Given the description of an element on the screen output the (x, y) to click on. 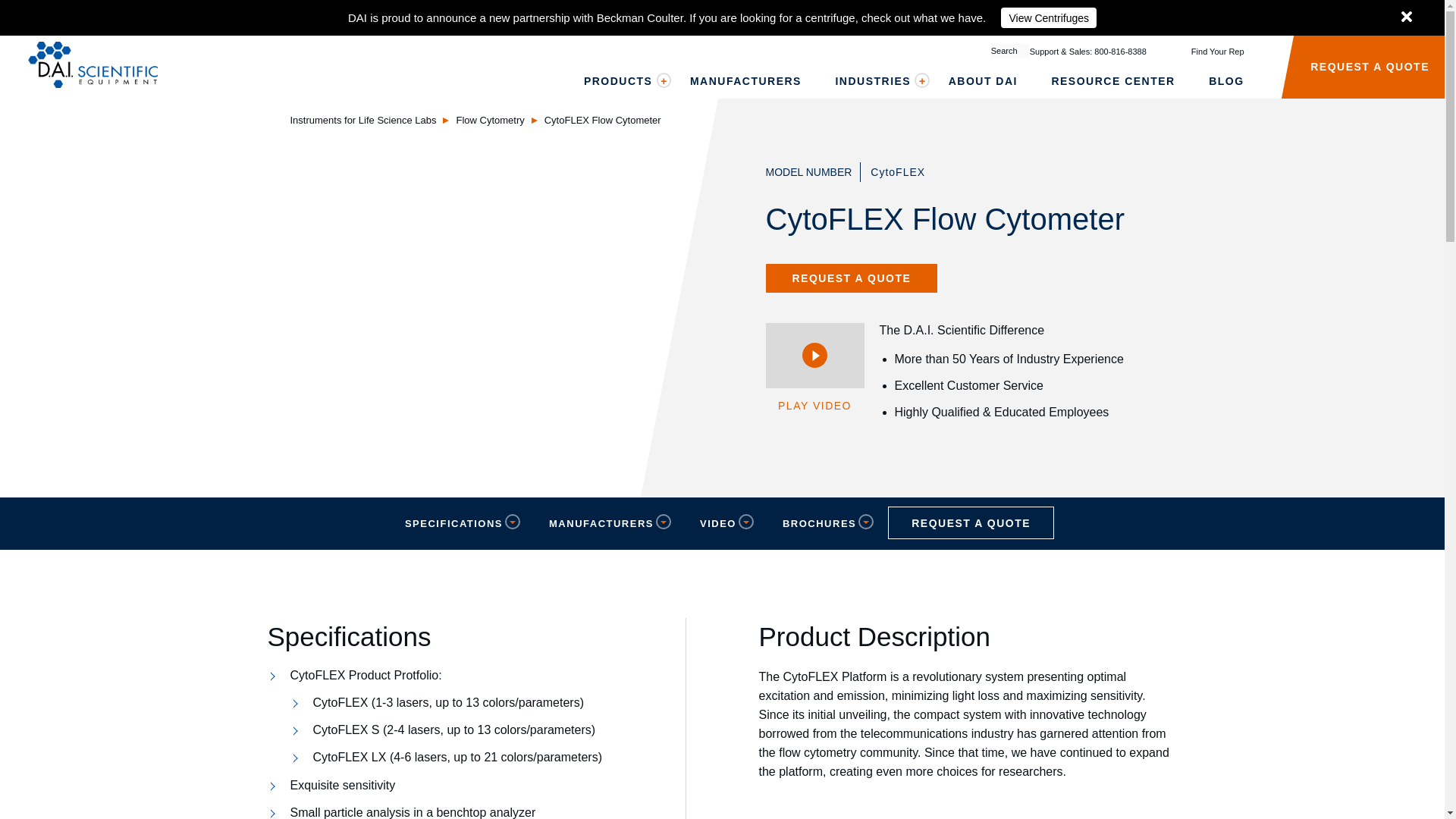
Find Your Rep (1195, 51)
View Centrifuges (1048, 17)
Home (92, 66)
Dismiss message (1406, 17)
PRODUCTS (620, 81)
